Given the description of an element on the screen output the (x, y) to click on. 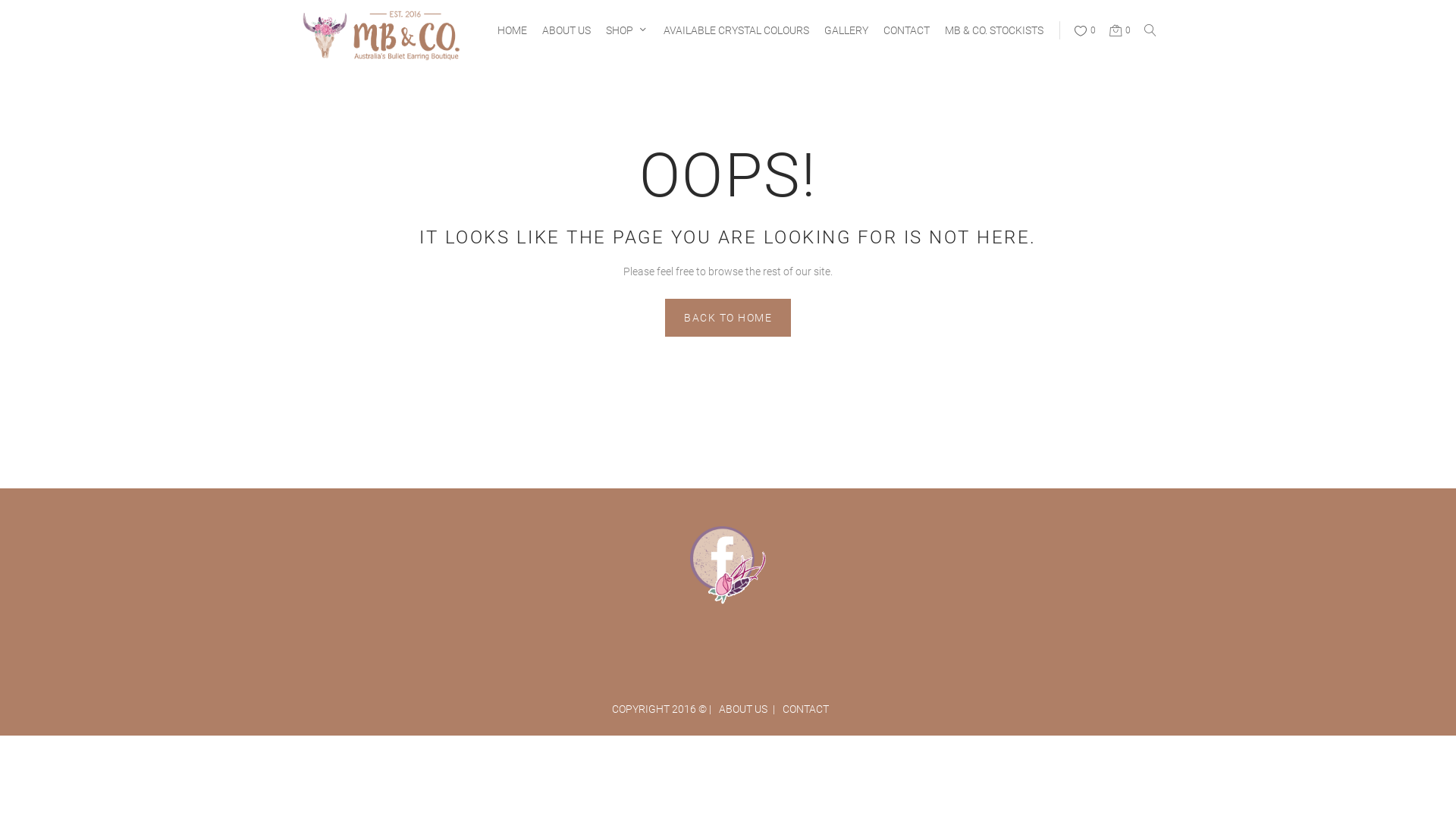
BACK TO HOME Element type: text (727, 317)
CONTACT Element type: text (898, 30)
GALLERY Element type: text (838, 30)
0 Element type: text (1083, 29)
SHOP Element type: text (611, 30)
HOME Element type: text (504, 30)
0 Element type: text (1118, 29)
ABOUT US Element type: text (558, 30)
AVAILABLE CRYSTAL COLOURS Element type: text (728, 30)
CONTACT Element type: text (809, 708)
MB & CO. STOCKISTS Element type: text (986, 30)
ABOUT US Element type: text (746, 708)
